Given the description of an element on the screen output the (x, y) to click on. 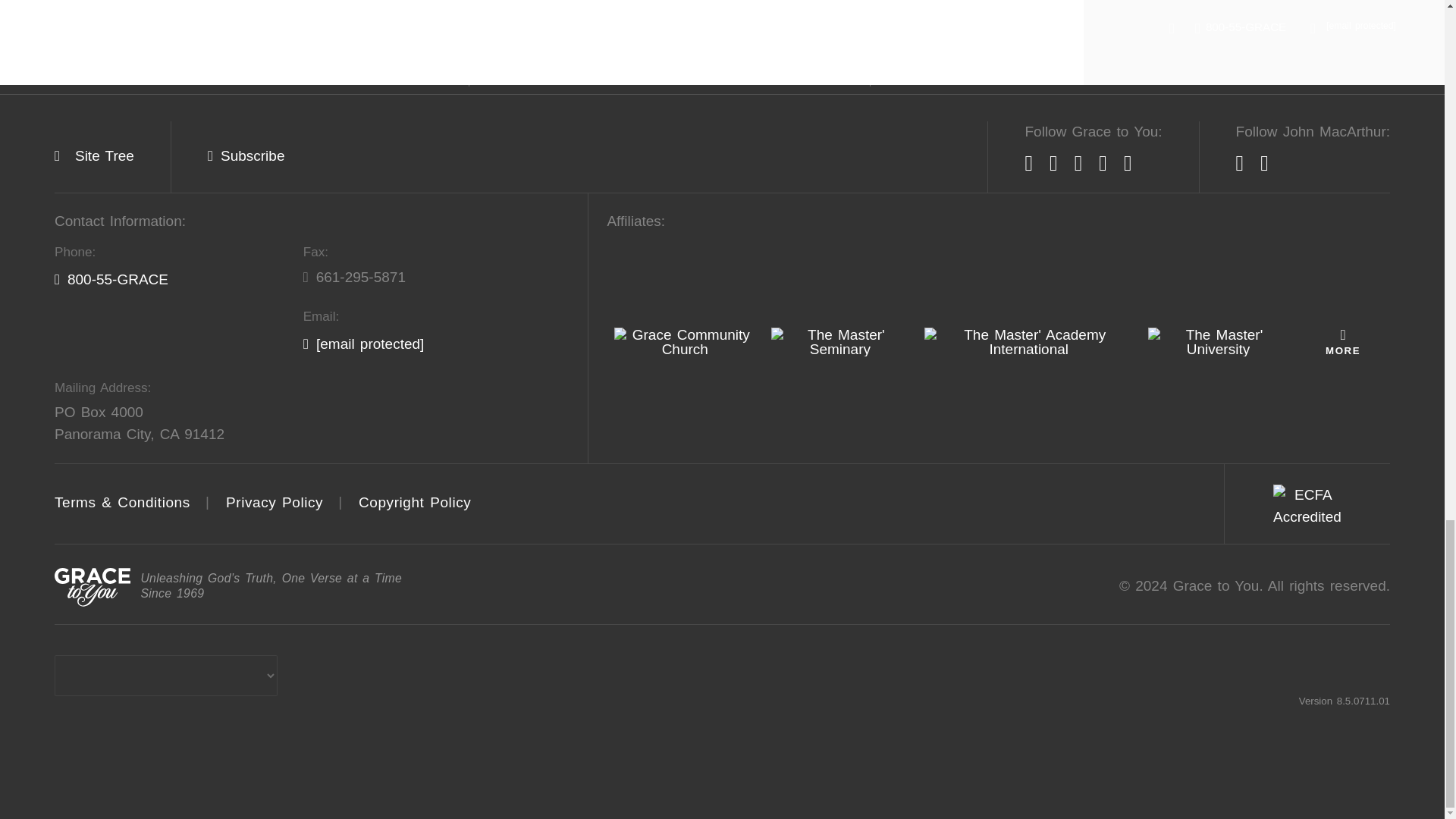
The Master' Seminary (839, 341)
The Master' Academy International (1028, 341)
More Affiliates (1341, 341)
The Master' University (1218, 341)
Grace Community Church (684, 341)
Grace-to-You (93, 587)
